Given the description of an element on the screen output the (x, y) to click on. 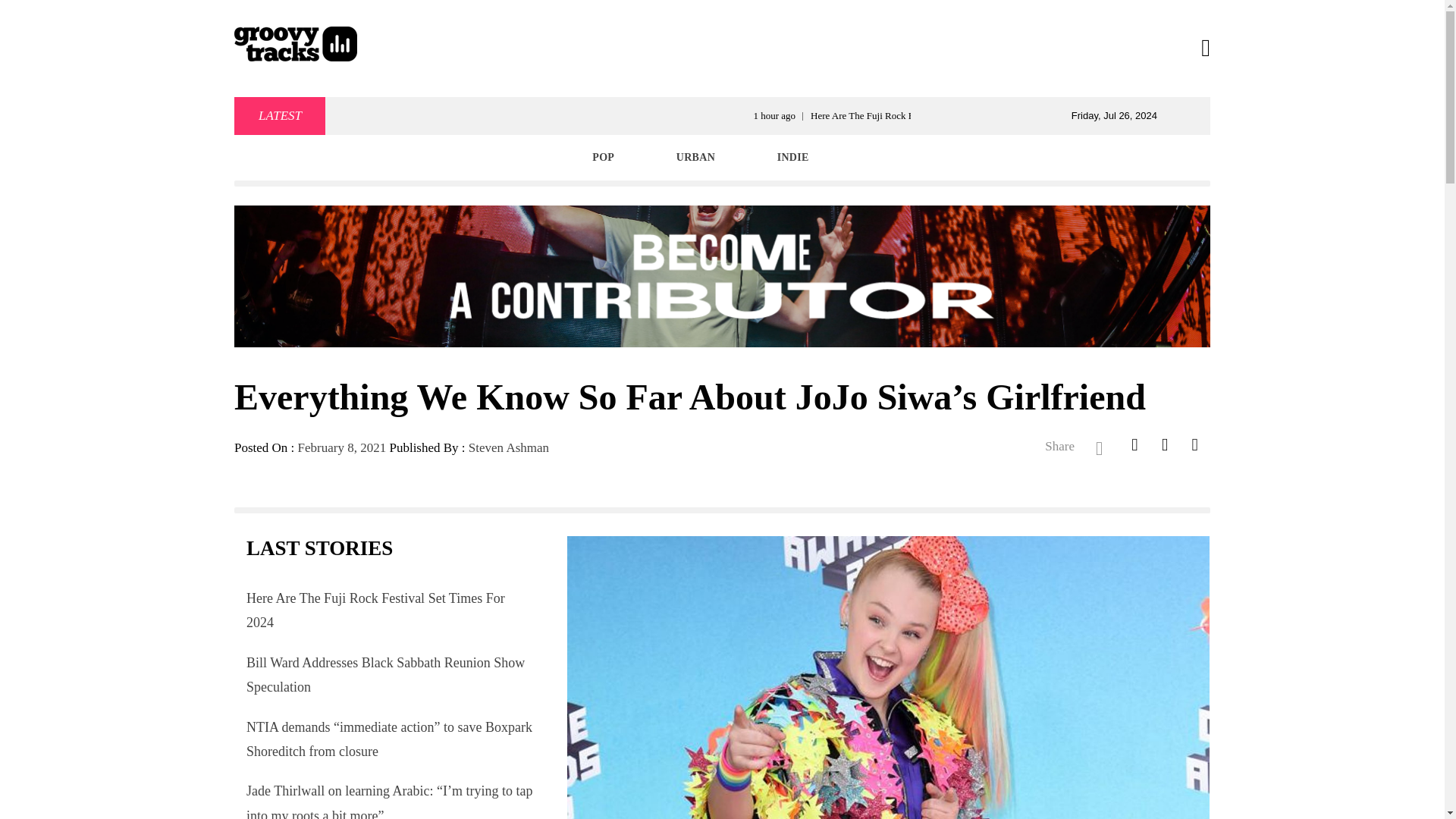
Bill Ward Addresses Black Sabbath Reunion Show Speculation (385, 674)
Steven Ashman (508, 447)
February 8, 2021 (342, 447)
URBAN (695, 157)
Here Are The Fuji Rock Festival Set Times For 2024 (375, 609)
INDIE (793, 157)
Search (797, 37)
1 hour agoHere Are The Fuji Rock Festival Set Times For 2024 (1028, 115)
Advertisement (721, 47)
